Given the description of an element on the screen output the (x, y) to click on. 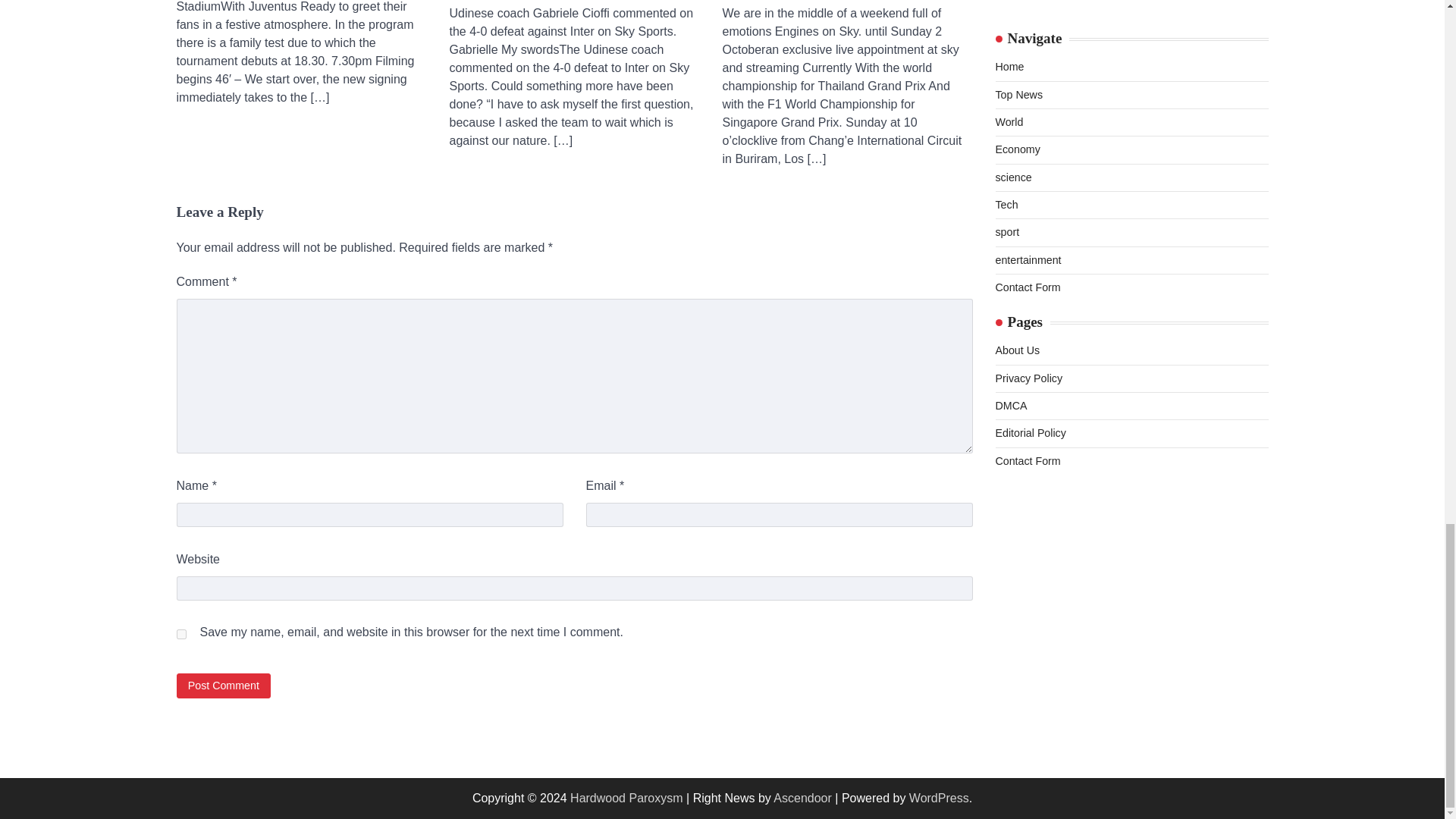
Post Comment (223, 685)
Post Comment (223, 685)
yes (181, 634)
